Given the description of an element on the screen output the (x, y) to click on. 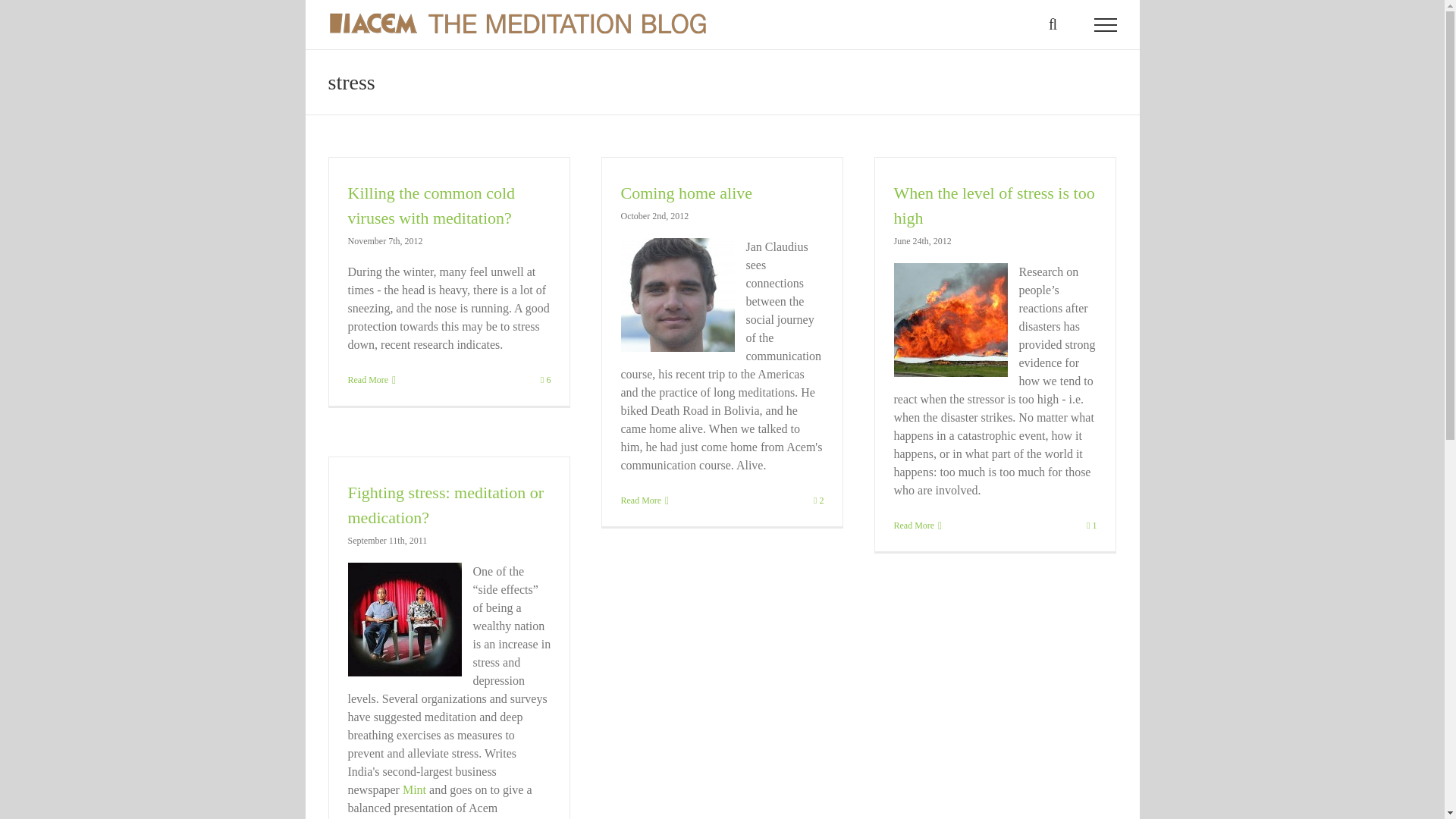
Read More (367, 379)
Killing the common cold viruses with meditation? (431, 205)
Fighting stress: meditation or medication? (445, 505)
 2 (818, 500)
Mint (414, 789)
 1 (1091, 525)
fire (950, 319)
Read More (640, 499)
When the level of stress is too high (993, 205)
Coming home alive (686, 192)
Read More (913, 525)
mint (404, 619)
Jan Claudius (676, 295)
 6 (545, 379)
